Given the description of an element on the screen output the (x, y) to click on. 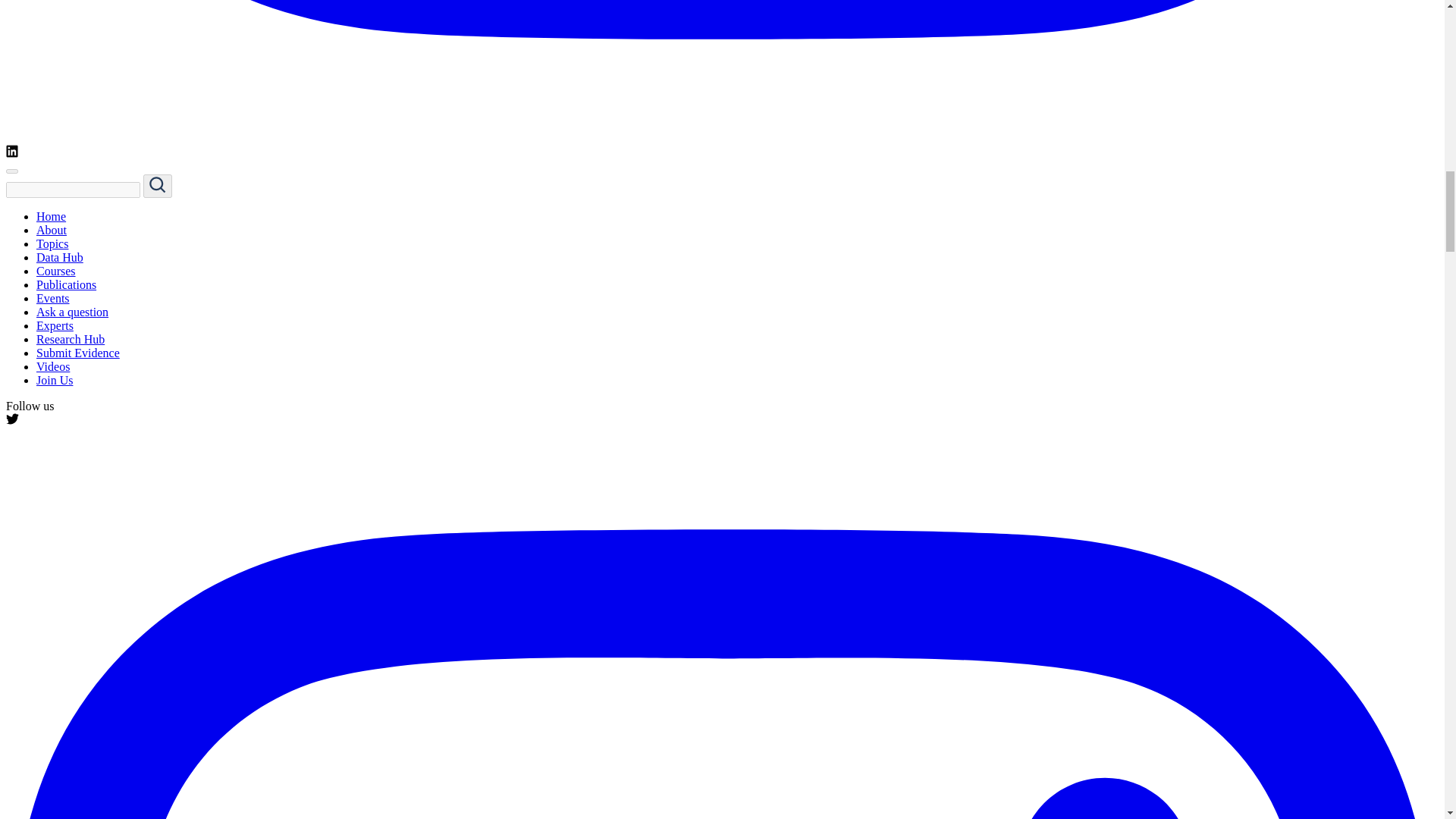
Submit Evidence (77, 352)
Publications (66, 284)
Research Hub (70, 338)
Videos (52, 366)
Home (50, 215)
Experts (55, 325)
Events (52, 297)
Courses (55, 270)
Join Us (54, 379)
Data Hub (59, 256)
